Given the description of an element on the screen output the (x, y) to click on. 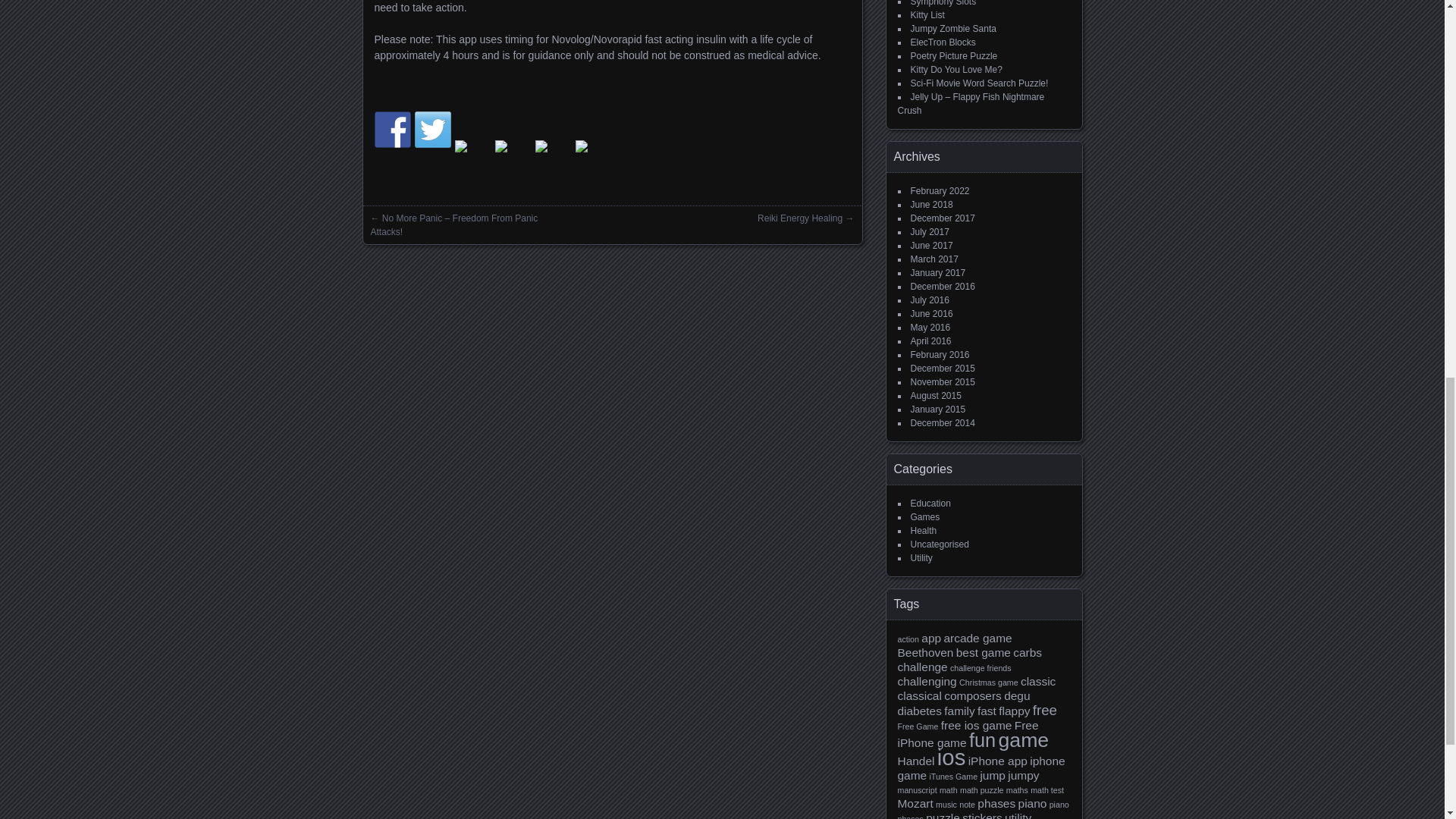
Share on Reddit (473, 158)
Pin it with Pinterest (513, 158)
Share on Linkedin (553, 158)
Share by email (593, 158)
Share on Twitter (431, 129)
Share on Facebook (392, 129)
Reiki Energy Healing (800, 217)
